Given the description of an element on the screen output the (x, y) to click on. 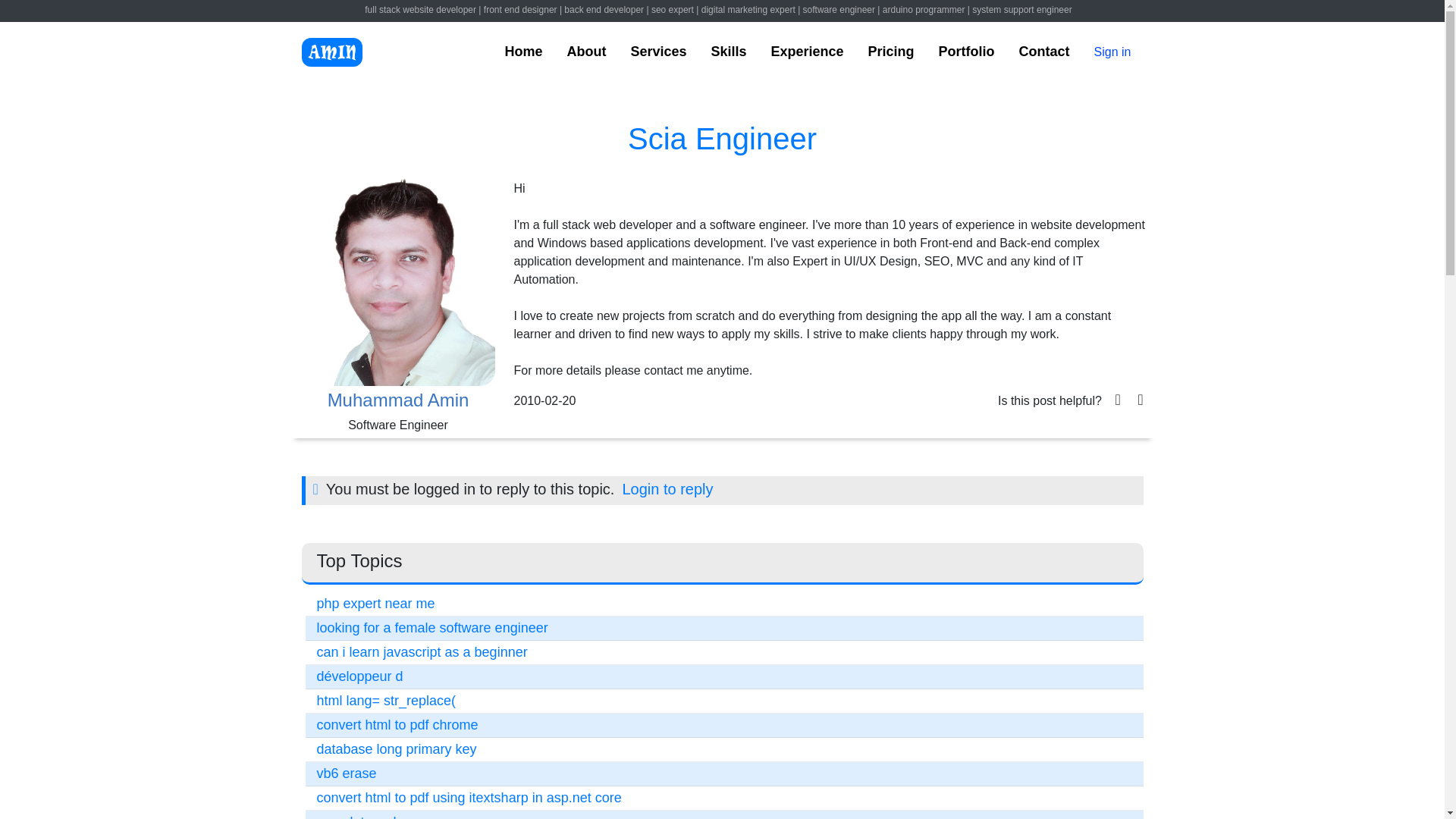
Experience (806, 51)
system support engineer (1021, 9)
full stack website developer (420, 9)
Skills (727, 51)
complete web (359, 816)
software engineer (839, 9)
convert html to pdf using itextsharp in asp.net core (469, 797)
front end designer (520, 9)
back end developer (603, 9)
digital marketing expert (747, 9)
can i learn javascript as a beginner (422, 652)
Muhammad Amin (398, 400)
Home (522, 51)
Sign in (1112, 52)
php expert near me (376, 603)
